Given the description of an element on the screen output the (x, y) to click on. 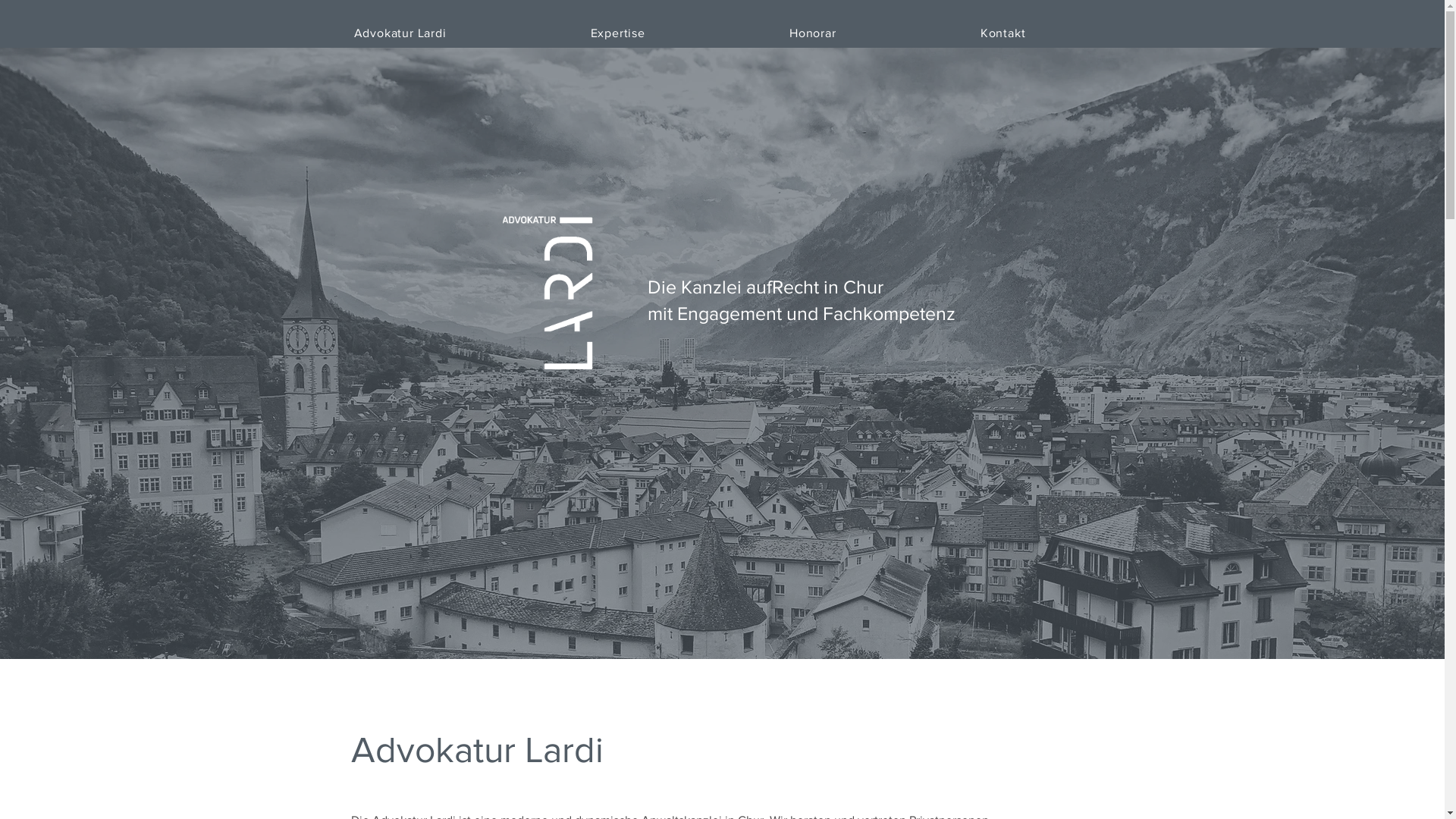
Honorar Element type: text (842, 32)
Advokatur Lardi Element type: text (429, 32)
Kontakt Element type: text (1033, 32)
Expertise Element type: text (648, 32)
